Given the description of an element on the screen output the (x, y) to click on. 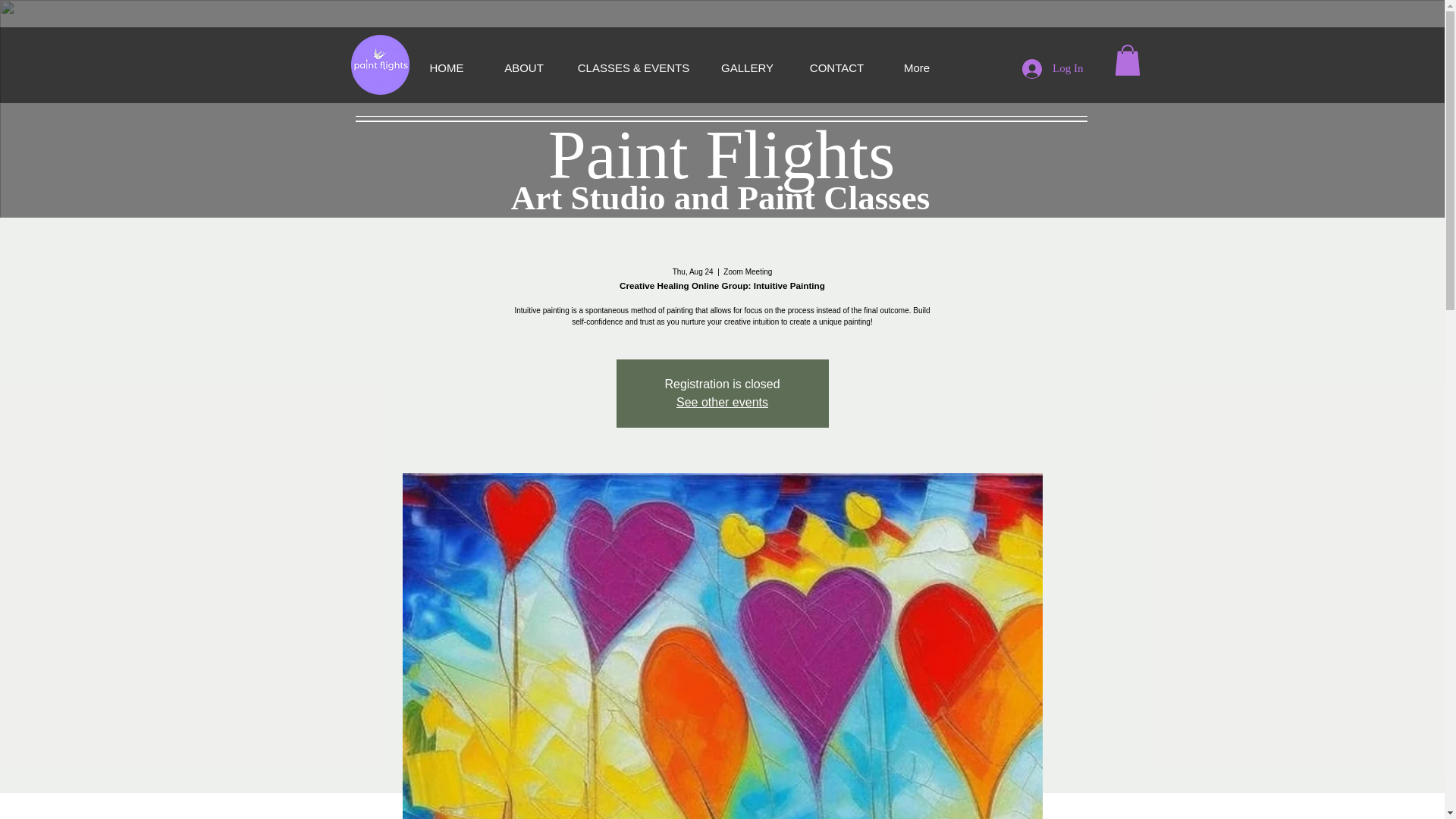
Log In (1052, 68)
GALLERY (747, 67)
See other events (722, 401)
HOME (446, 67)
ABOUT (523, 67)
CONTACT (837, 67)
